Given the description of an element on the screen output the (x, y) to click on. 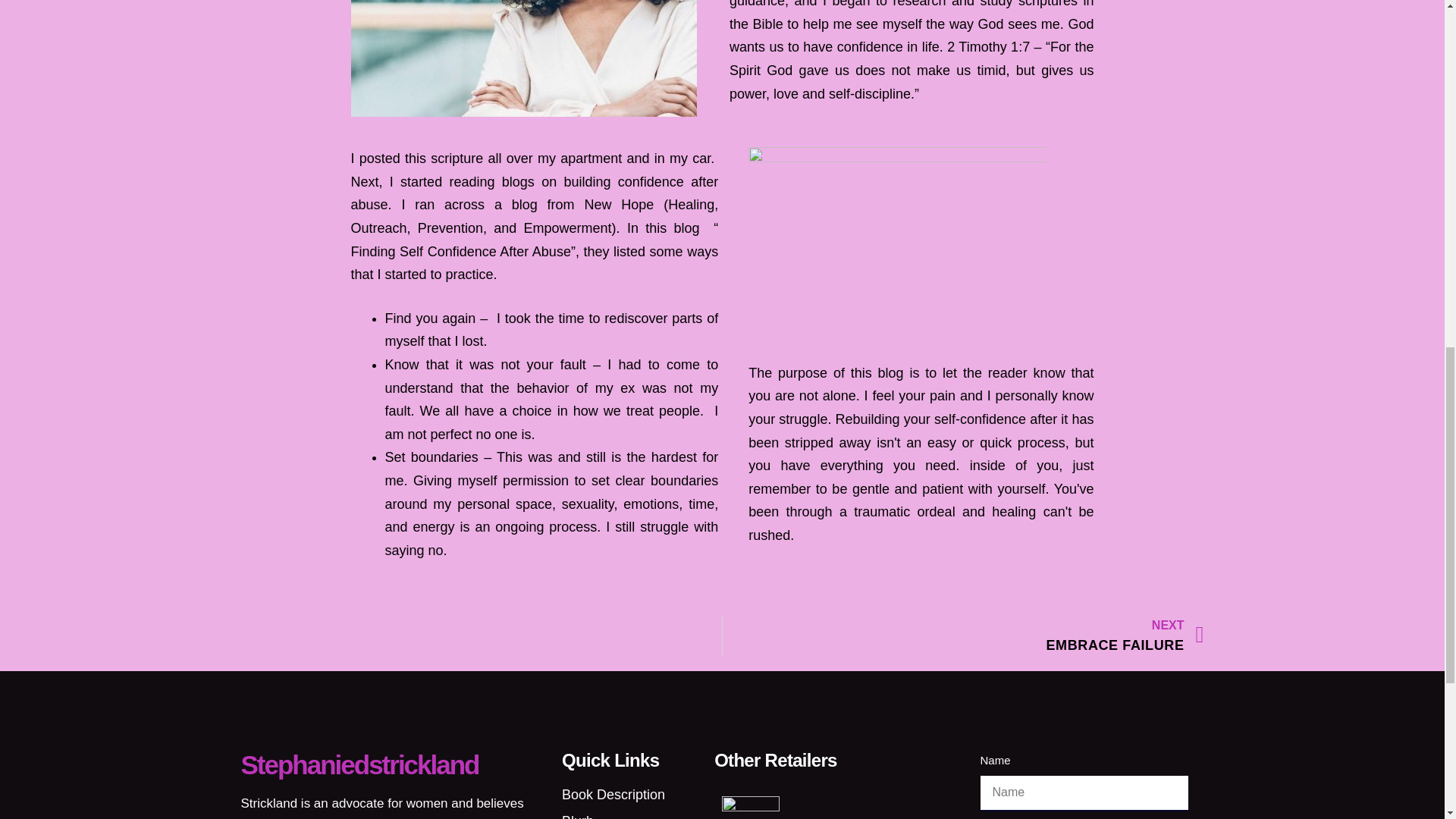
Stephaniedstrickland (360, 764)
Book Description (630, 794)
Blurb (963, 635)
